Given the description of an element on the screen output the (x, y) to click on. 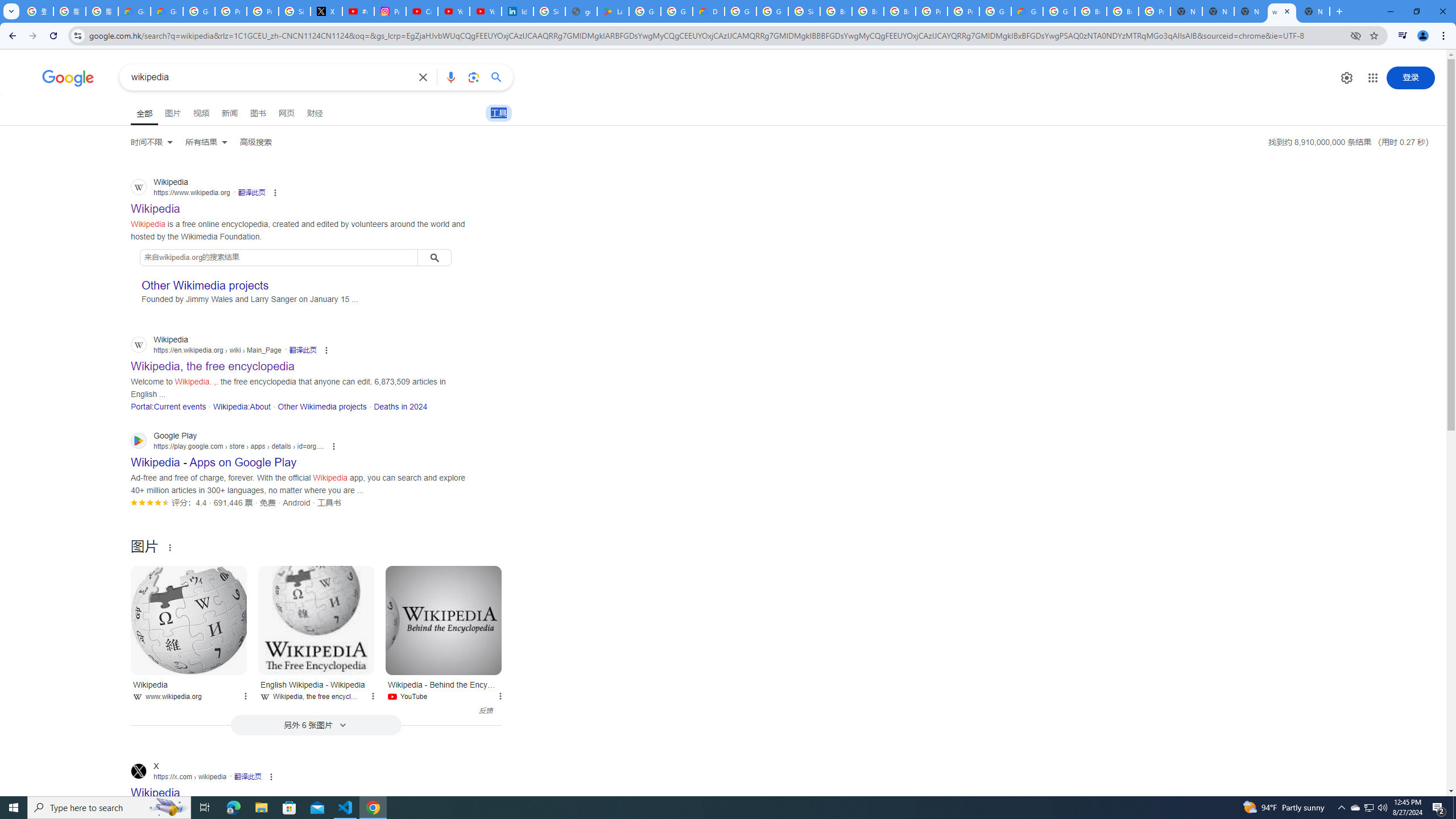
Wikipedia www.wikipedia.org (189, 688)
Browse Chrome as a guest - Computer - Google Chrome Help (899, 11)
Google Cloud Estimate Summary (1027, 11)
Wikipedia - Behind the Encyclopedia YouTube (443, 688)
